Given the description of an element on the screen output the (x, y) to click on. 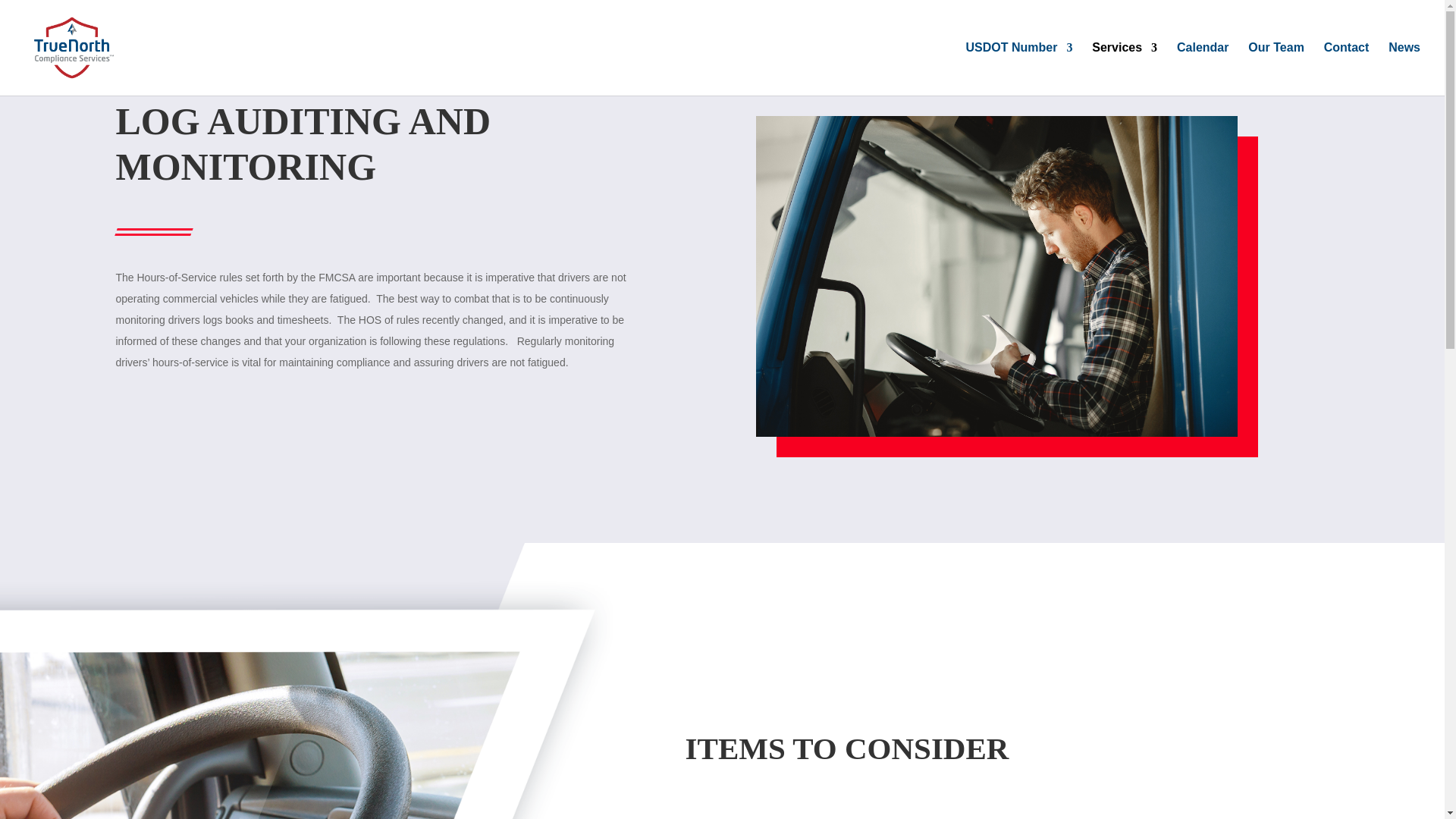
Calendar (1202, 68)
USDOT Number (1018, 68)
Services (1124, 68)
Our Team (1275, 68)
